Given the description of an element on the screen output the (x, y) to click on. 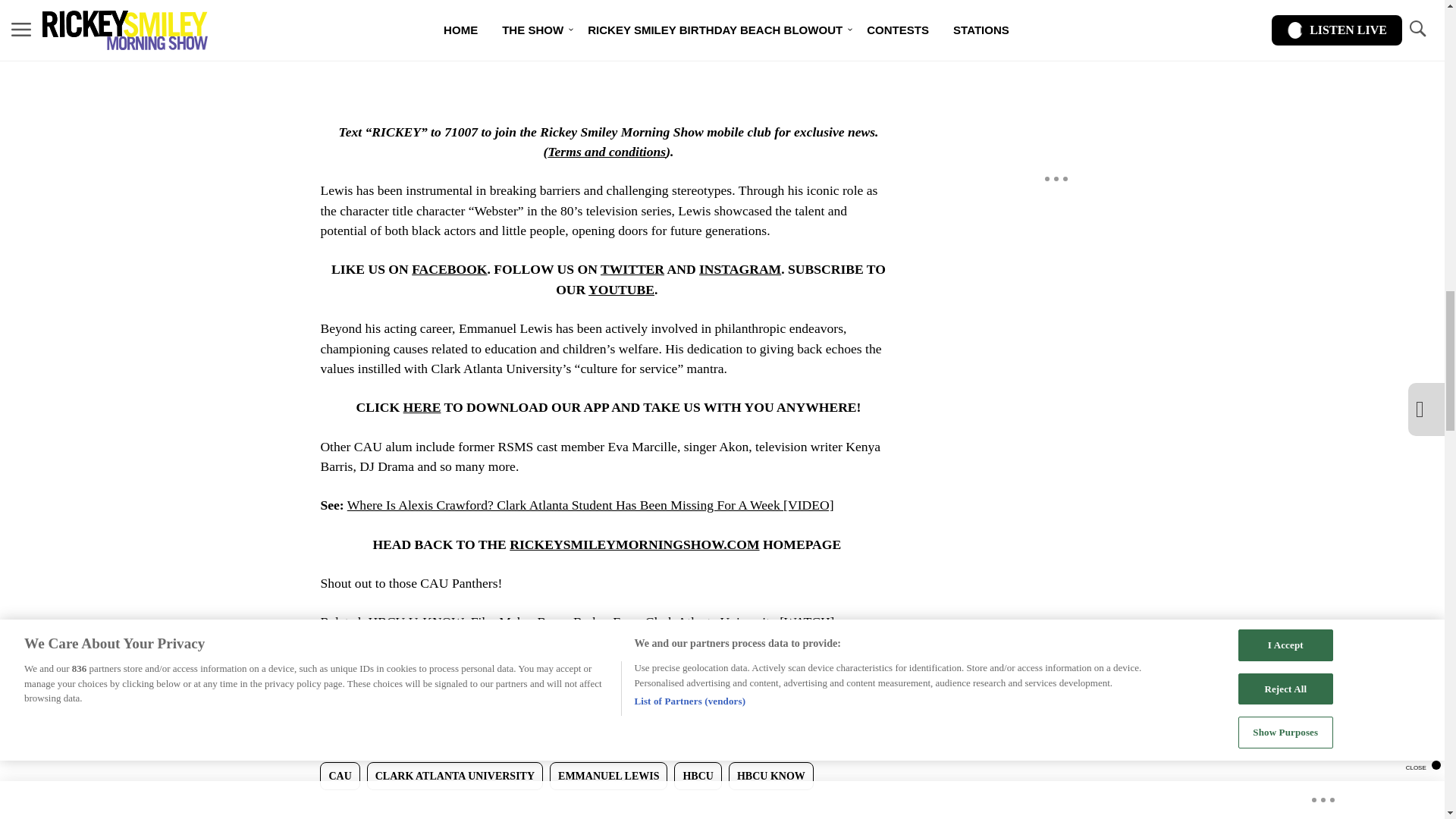
TWITTER (631, 268)
YOUTUBE (620, 289)
Vuukle Sharebar Widget (585, 808)
3rd party ad content (607, 29)
FACEBOOK (449, 268)
INSTAGRAM (739, 268)
RICKEYSMILEYMORNINGSHOW.COM (633, 544)
Terms and conditions (606, 151)
HERE (422, 406)
